Given the description of an element on the screen output the (x, y) to click on. 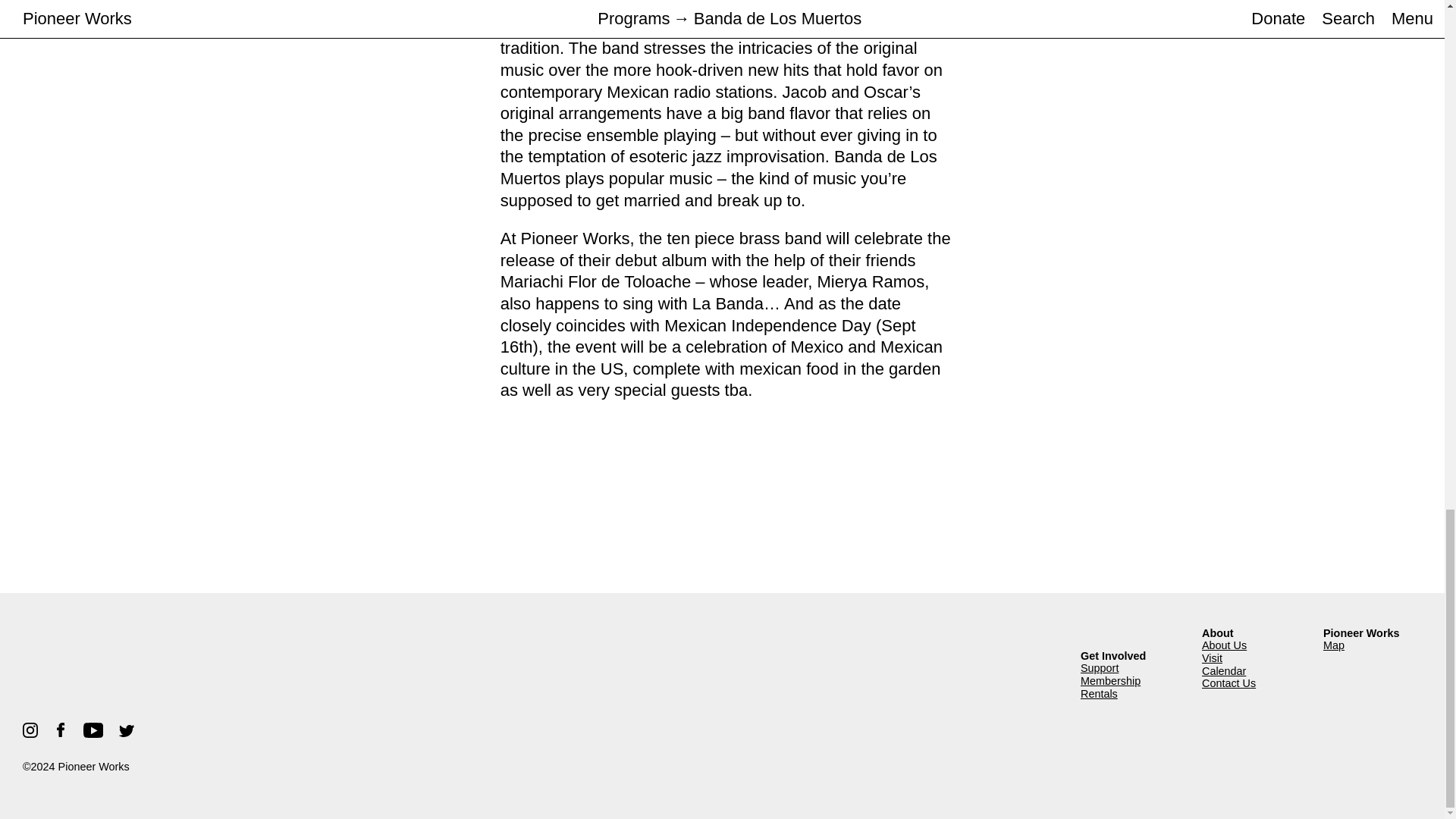
Map (1372, 645)
Calendar (1251, 671)
Contact Us (1251, 683)
About Us (1251, 645)
Rentals (1129, 694)
Membership (1129, 680)
Visit (1251, 658)
Support (1129, 667)
